Given the description of an element on the screen output the (x, y) to click on. 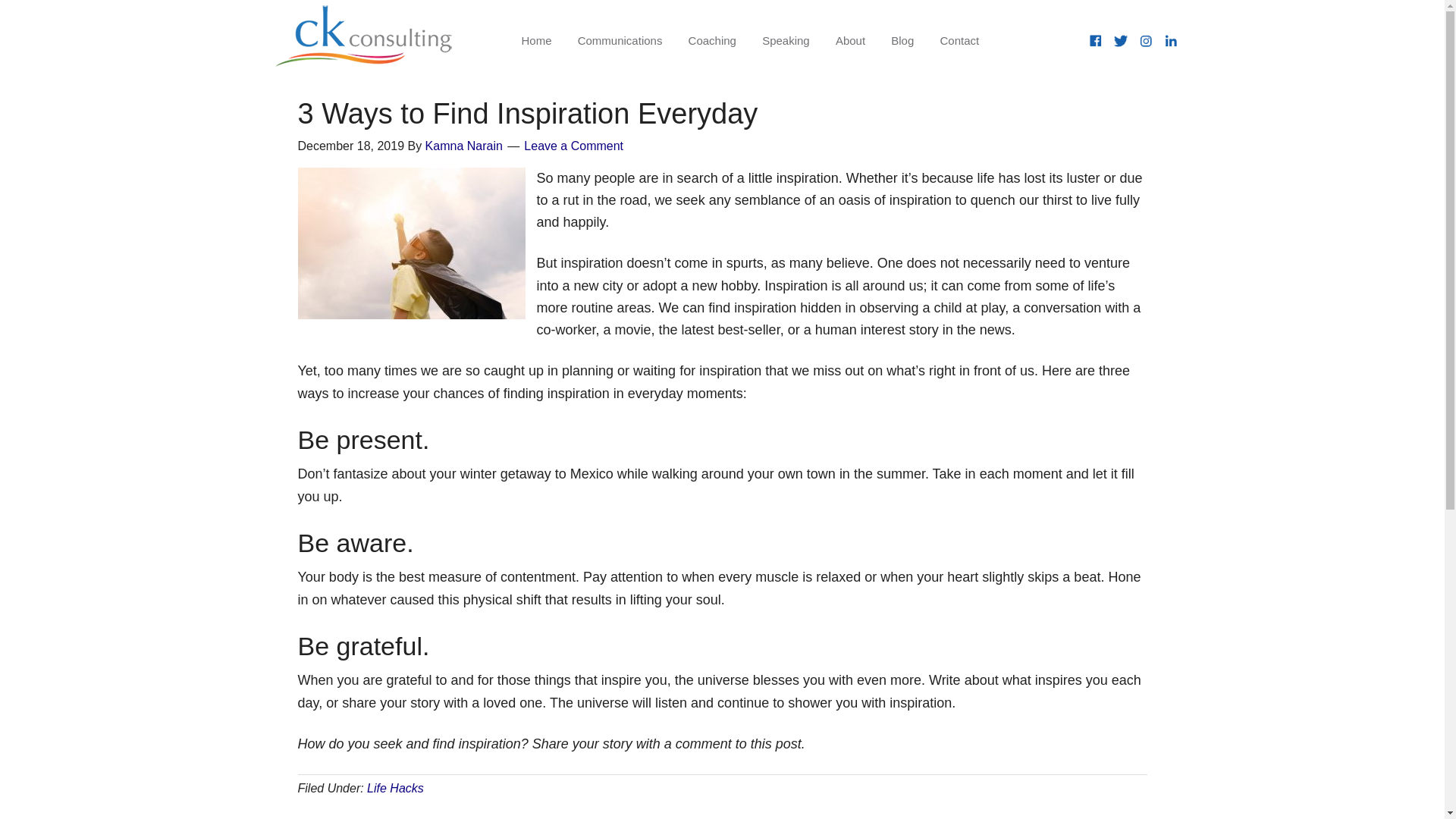
Home (535, 41)
Leave a Comment (573, 145)
Contact (959, 41)
Blog (901, 41)
Kamna Narain (463, 145)
About (850, 41)
Communications (620, 41)
Speaking (786, 41)
Coach Kamna (371, 36)
Coaching (712, 41)
